Given the description of an element on the screen output the (x, y) to click on. 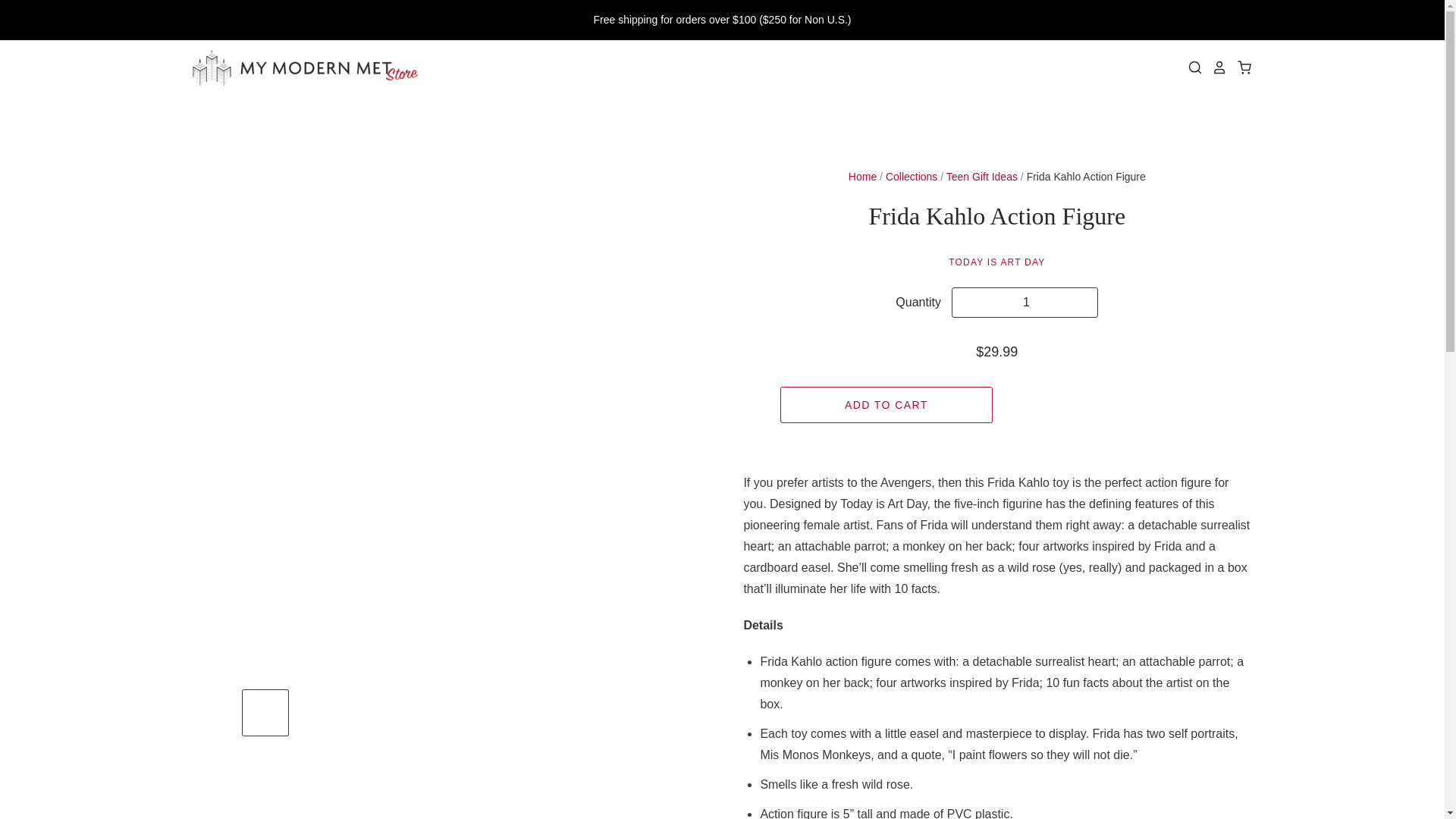
1 (1025, 302)
Add to cart (886, 404)
